Given the description of an element on the screen output the (x, y) to click on. 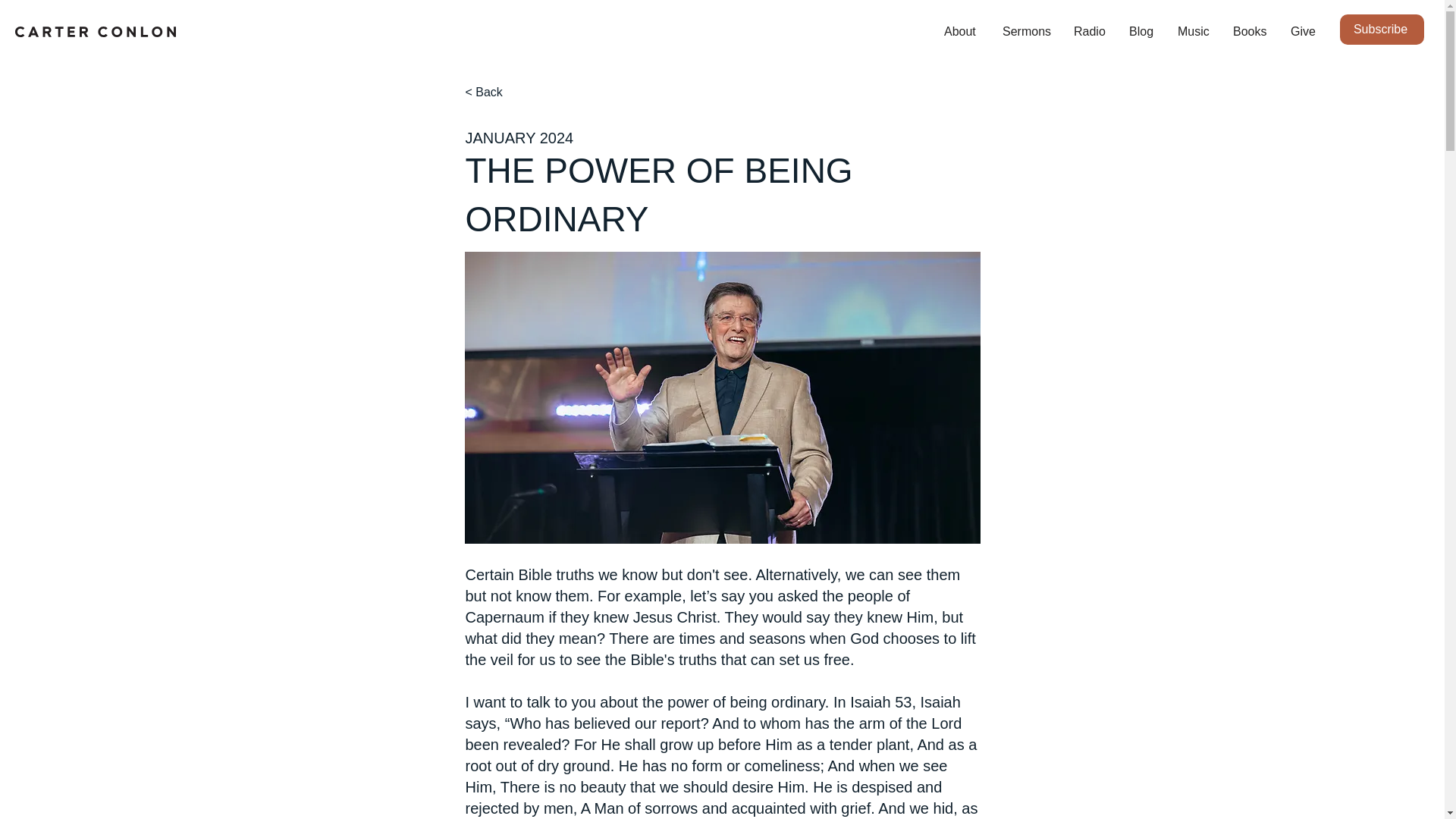
Music (1193, 31)
Books (1250, 31)
Give (1302, 31)
About (962, 31)
Sermons (1026, 31)
Blog (1142, 31)
Subscribe (1381, 29)
Radio (1090, 31)
